Given the description of an element on the screen output the (x, y) to click on. 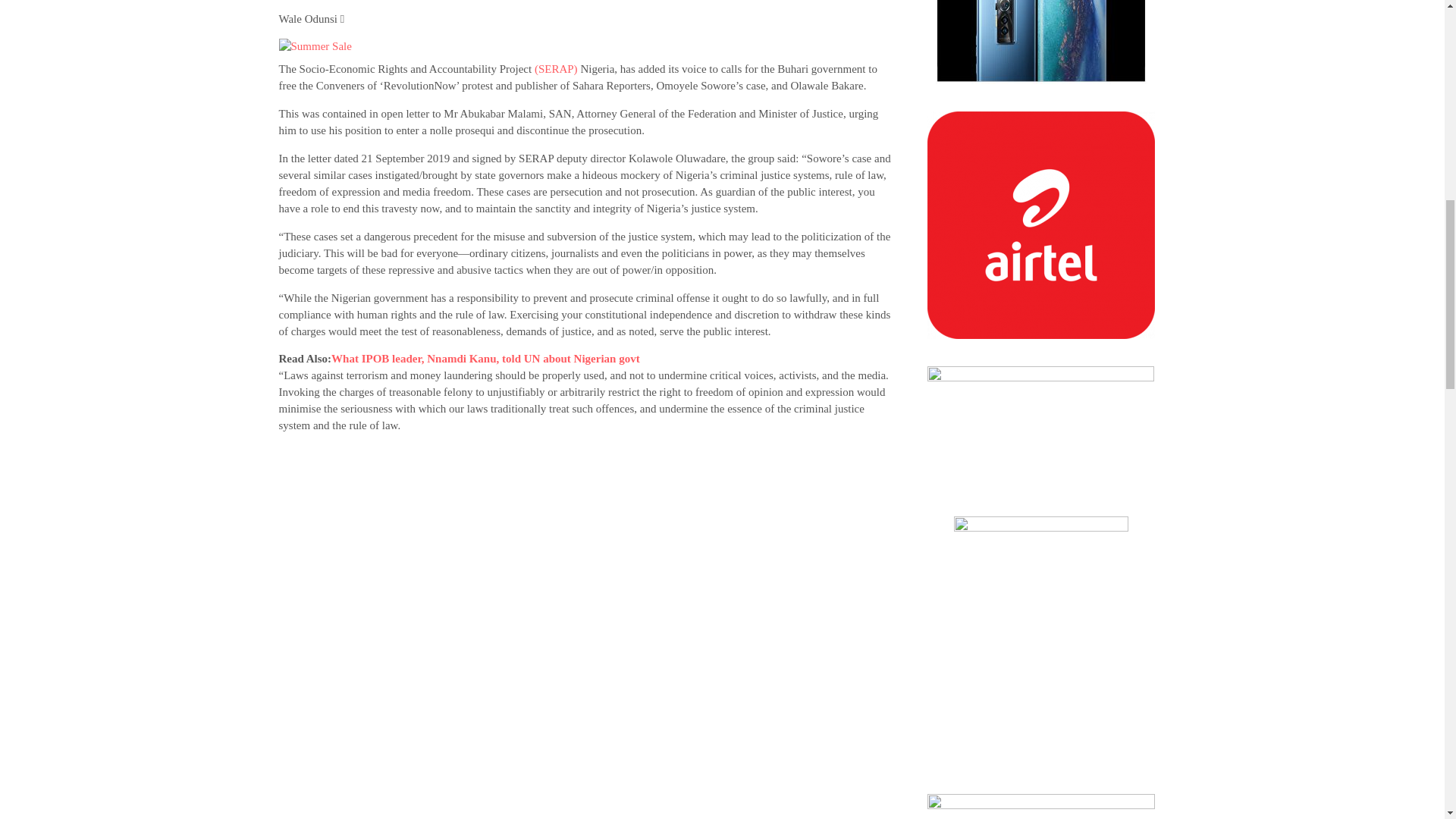
What IPOB leader, Nnamdi Kanu, told UN about Nigerian govt (485, 358)
